Given the description of an element on the screen output the (x, y) to click on. 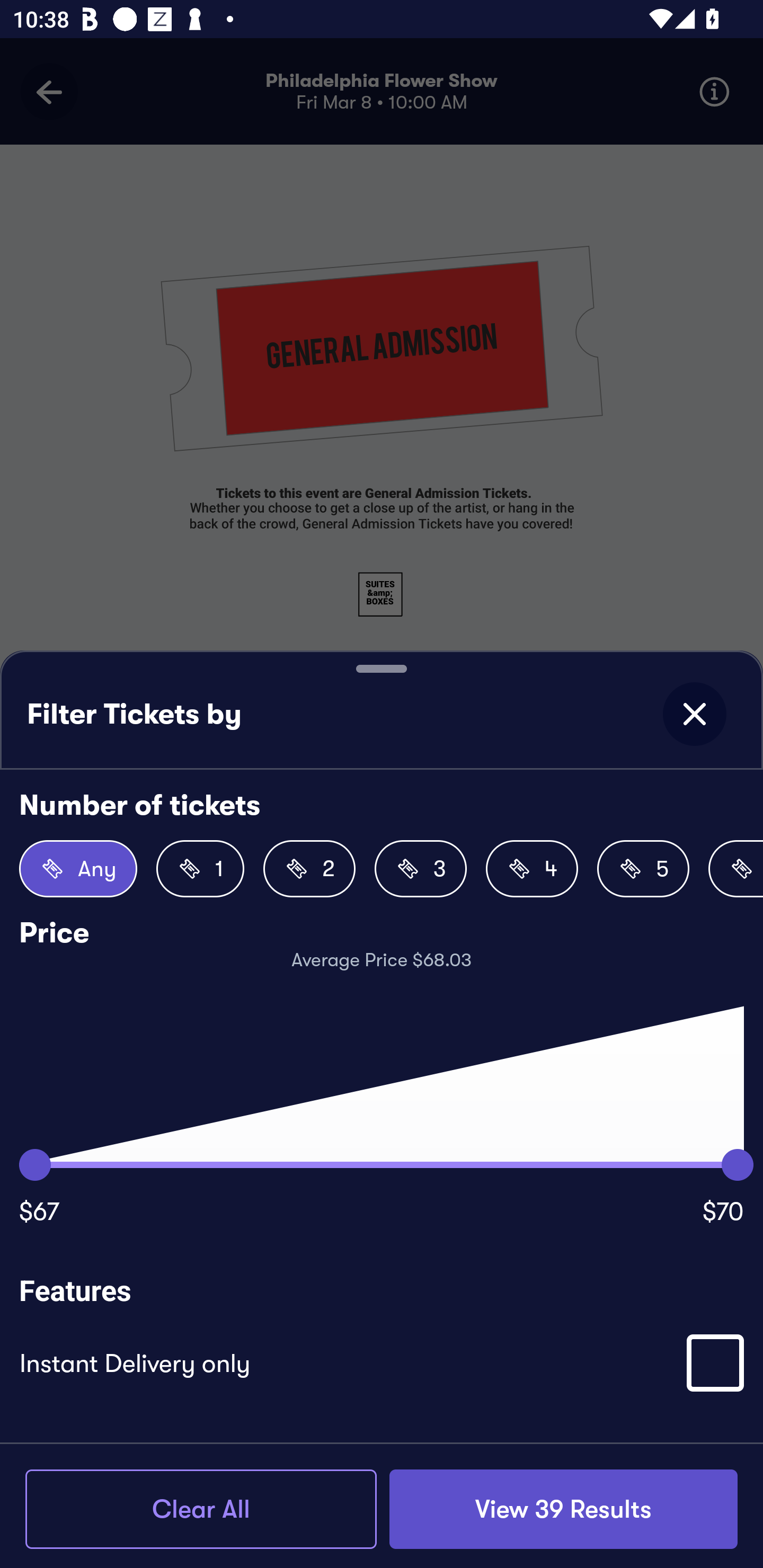
close (694, 714)
Any (78, 868)
1 (200, 868)
2 (309, 868)
3 (420, 868)
4 (532, 868)
5 (642, 868)
Clear All (200, 1509)
View 39 Results (563, 1509)
